Given the description of an element on the screen output the (x, y) to click on. 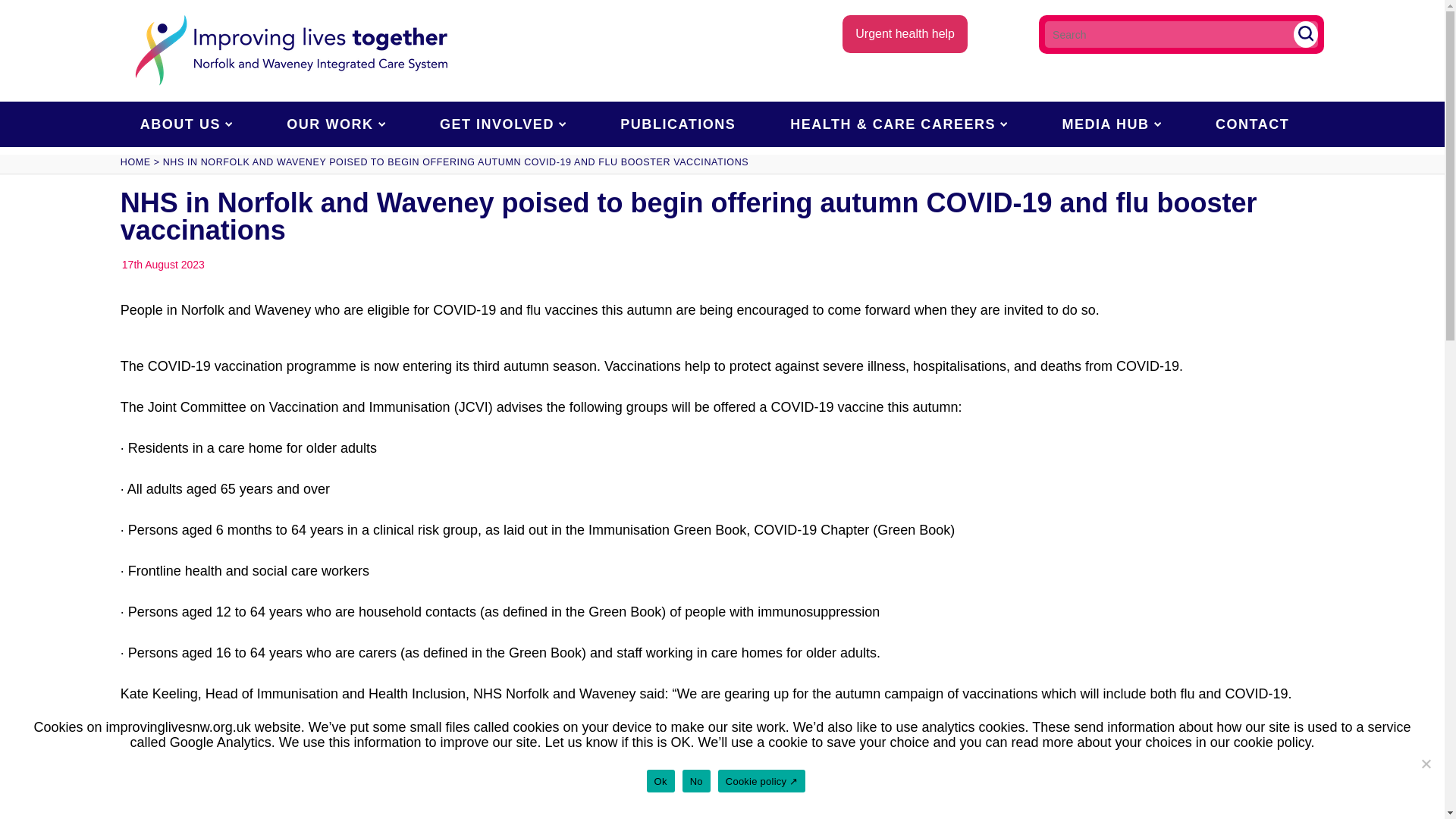
Urgent health help (905, 34)
ABOUT US (185, 124)
Click to search (1305, 34)
No (1425, 763)
